Given the description of an element on the screen output the (x, y) to click on. 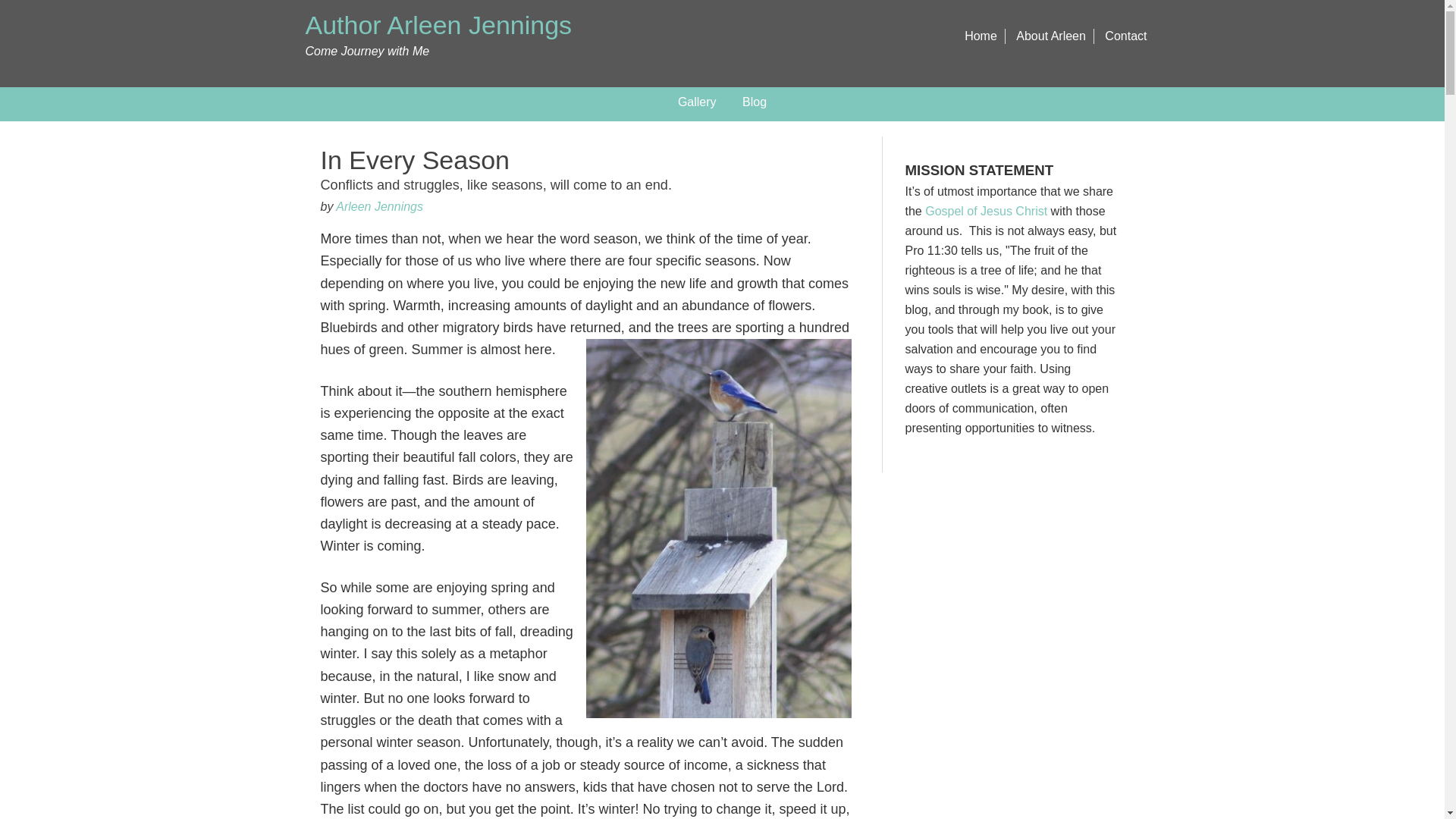
About Arleen (1051, 36)
Gallery (697, 102)
Author Arleen Jennings (438, 24)
Blog (753, 102)
Contact (1125, 36)
Home (981, 36)
Arleen Jennings (379, 205)
